Given the description of an element on the screen output the (x, y) to click on. 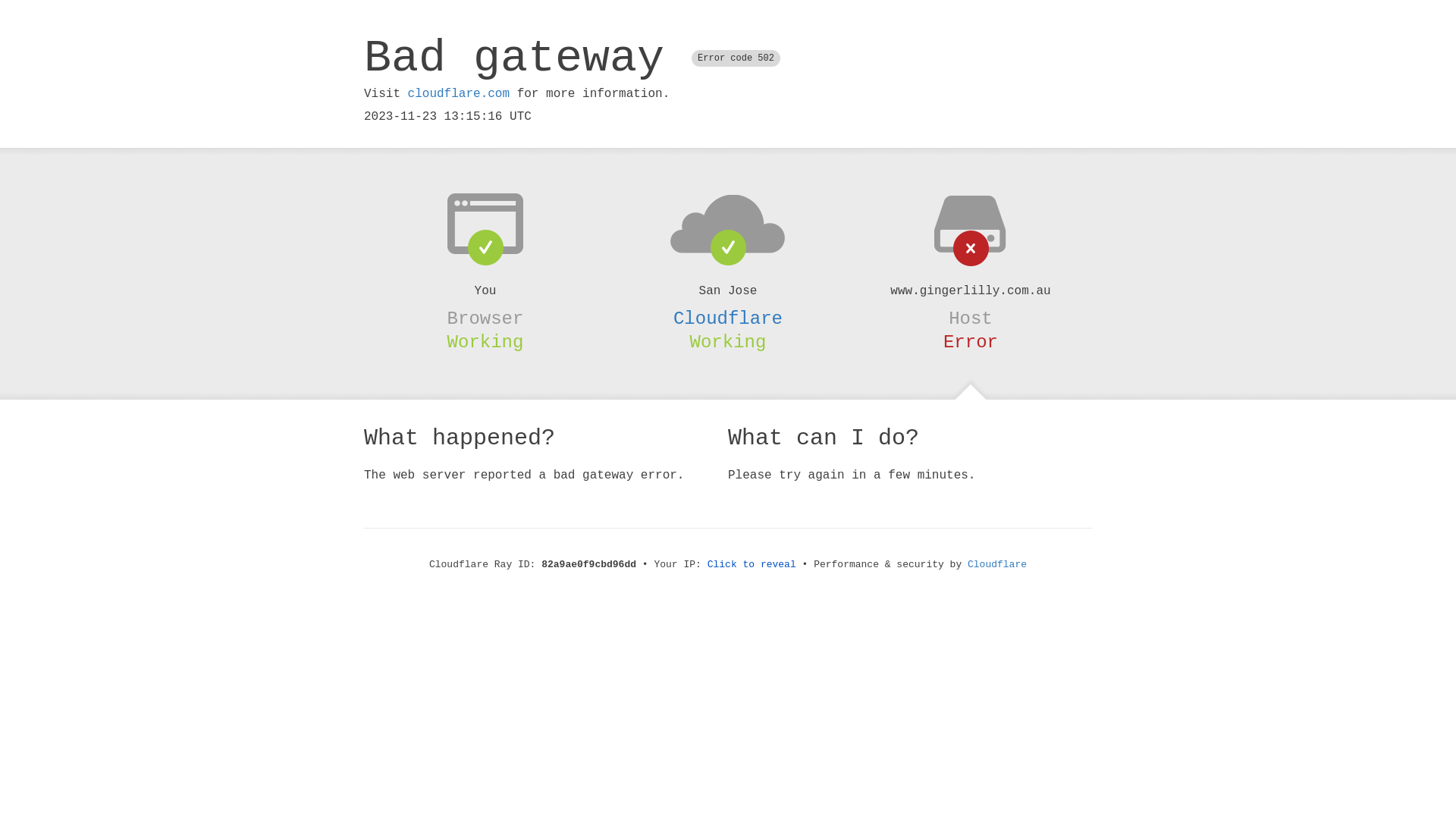
cloudflare.com Element type: text (458, 93)
Cloudflare Element type: text (996, 564)
Click to reveal Element type: text (751, 564)
Cloudflare Element type: text (727, 318)
